Given the description of an element on the screen output the (x, y) to click on. 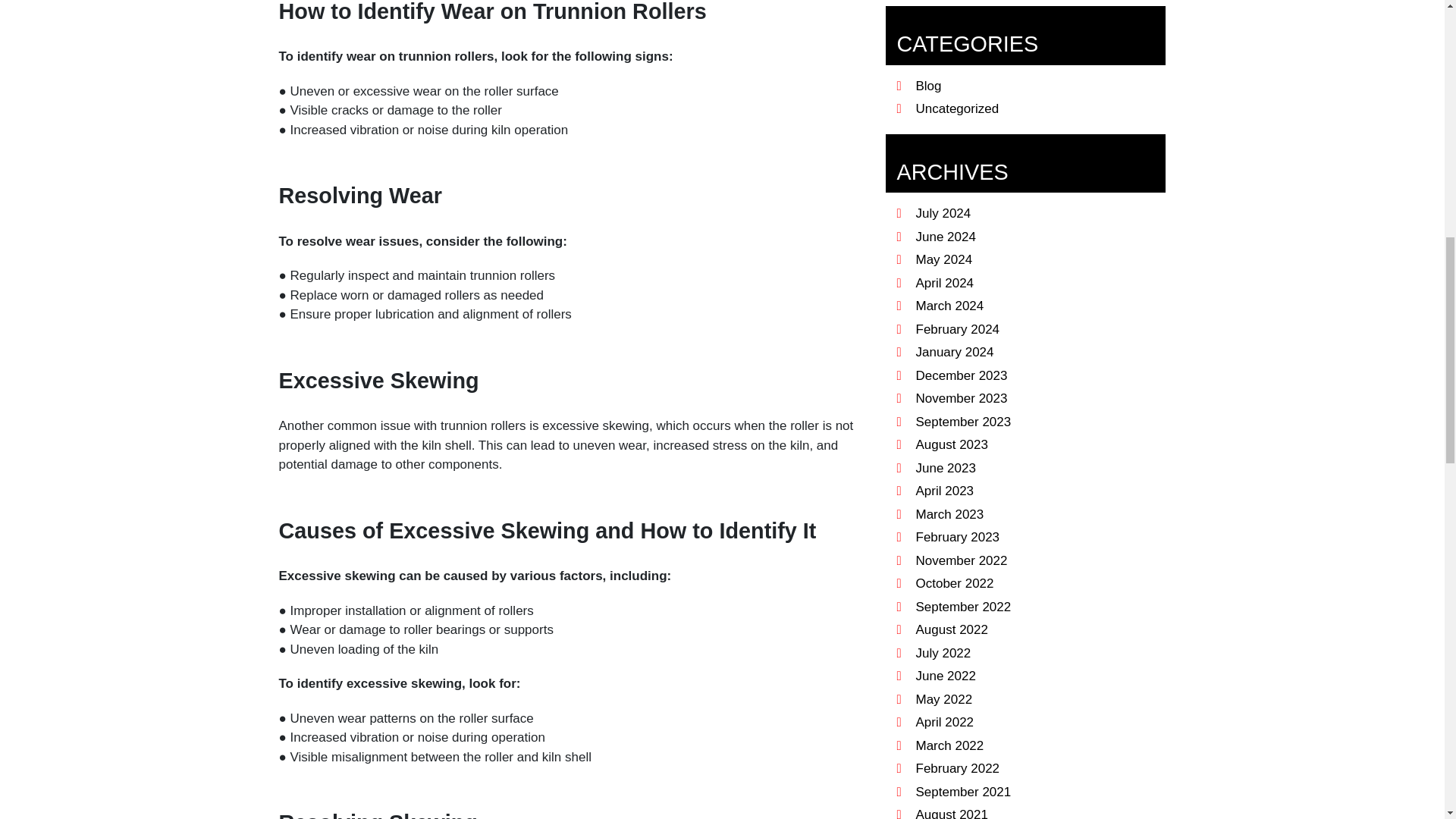
May 2024 (940, 259)
January 2024 (951, 351)
December 2023 (957, 375)
March 2024 (946, 305)
Uncategorized (953, 108)
June 2023 (941, 468)
July 2024 (939, 213)
April 2024 (941, 283)
November 2023 (957, 398)
June 2024 (941, 237)
